Given the description of an element on the screen output the (x, y) to click on. 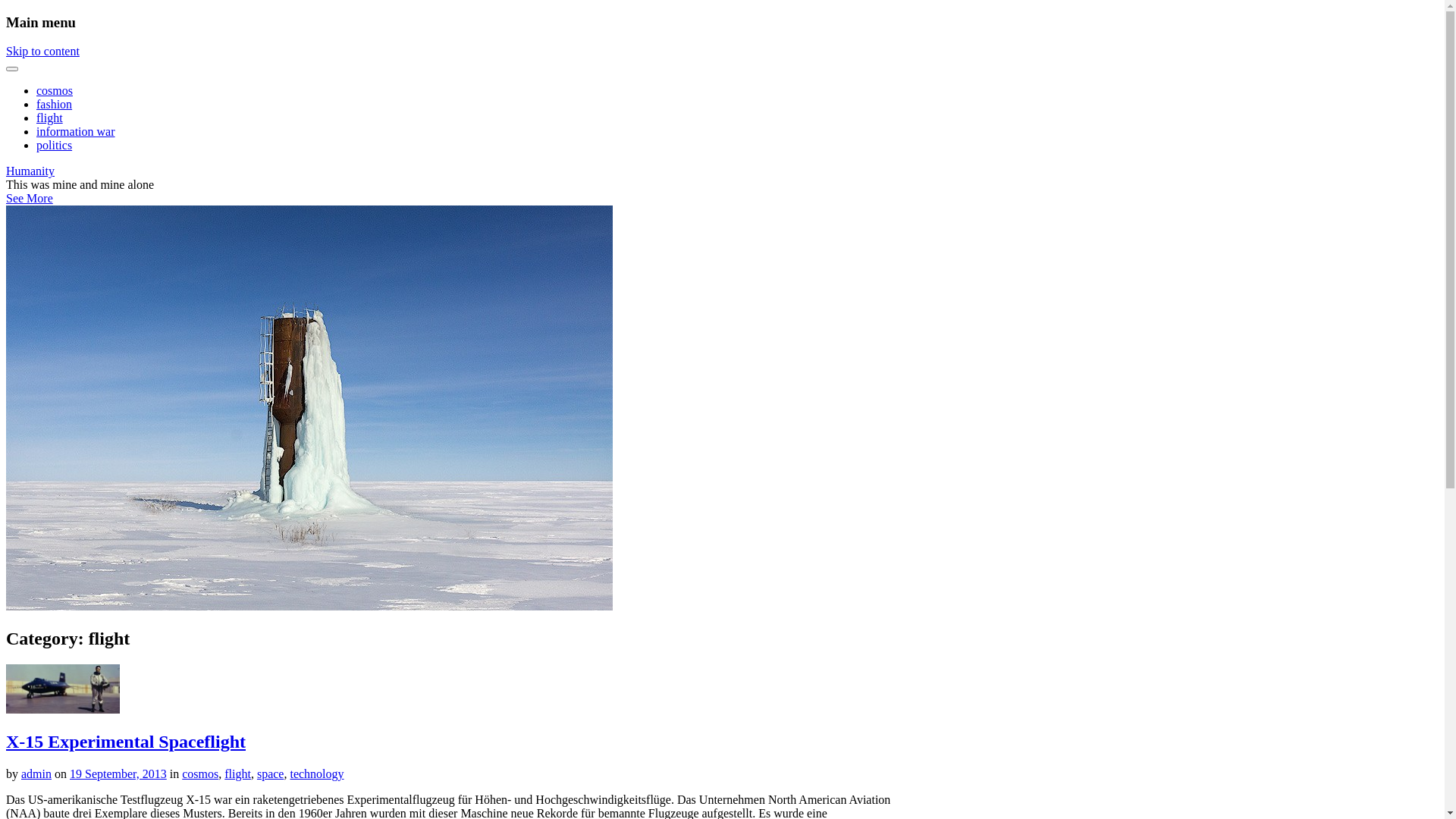
See More Element type: text (29, 197)
cosmos Element type: text (200, 773)
information war Element type: text (75, 131)
fashion Element type: text (54, 103)
flight Element type: text (49, 117)
technology Element type: text (316, 773)
cosmos Element type: text (54, 90)
flight Element type: text (237, 773)
Skip to content Element type: text (42, 50)
space Element type: text (270, 773)
19 September, 2013 Element type: text (117, 773)
Humanity Element type: text (30, 170)
admin Element type: text (36, 773)
politics Element type: text (54, 144)
X-15 Experimental Spaceflight Element type: text (125, 741)
